Given the description of an element on the screen output the (x, y) to click on. 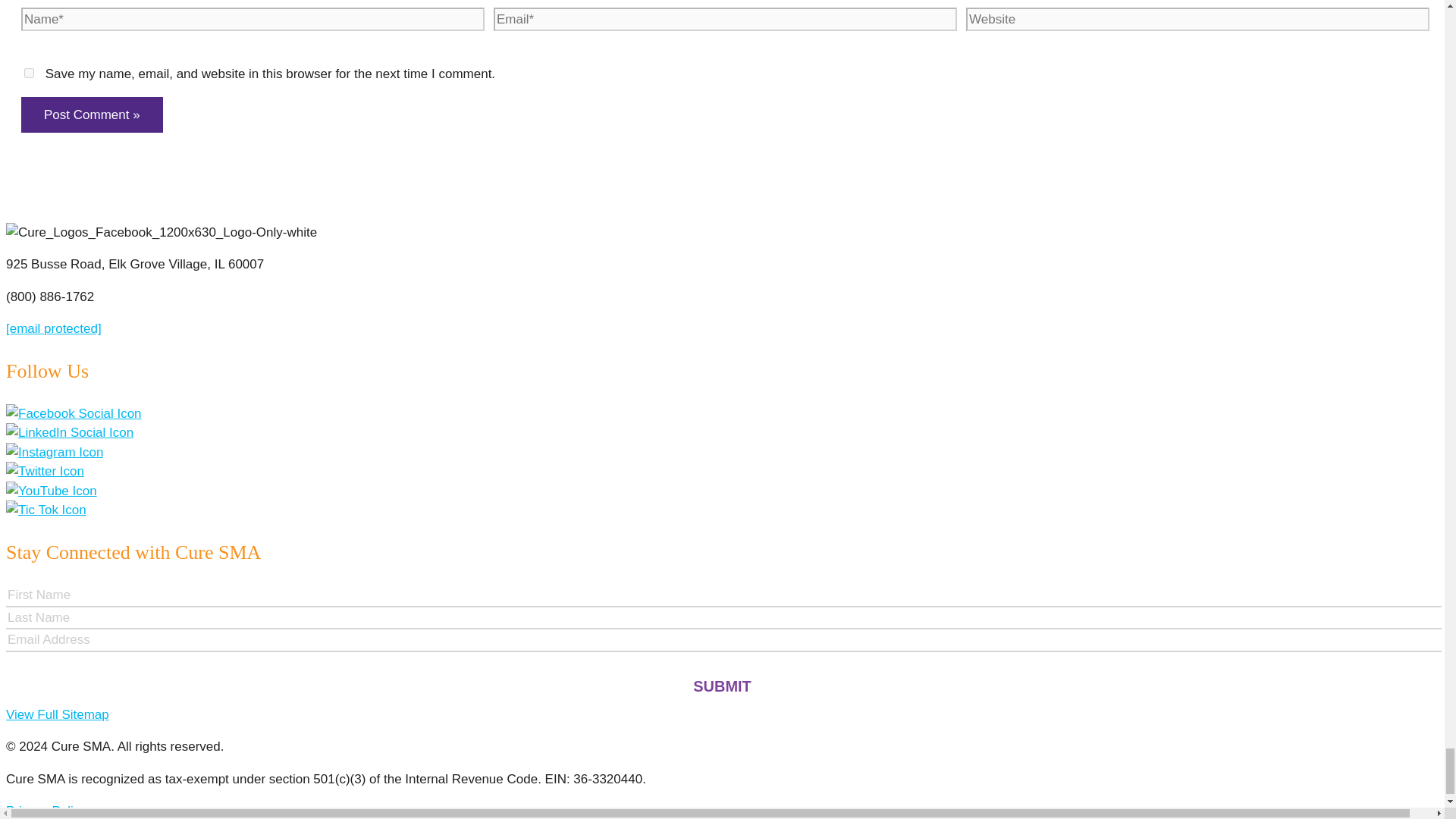
Submit (721, 686)
First Name (723, 595)
Email Address (723, 640)
yes (28, 72)
Last Name (723, 618)
